Given the description of an element on the screen output the (x, y) to click on. 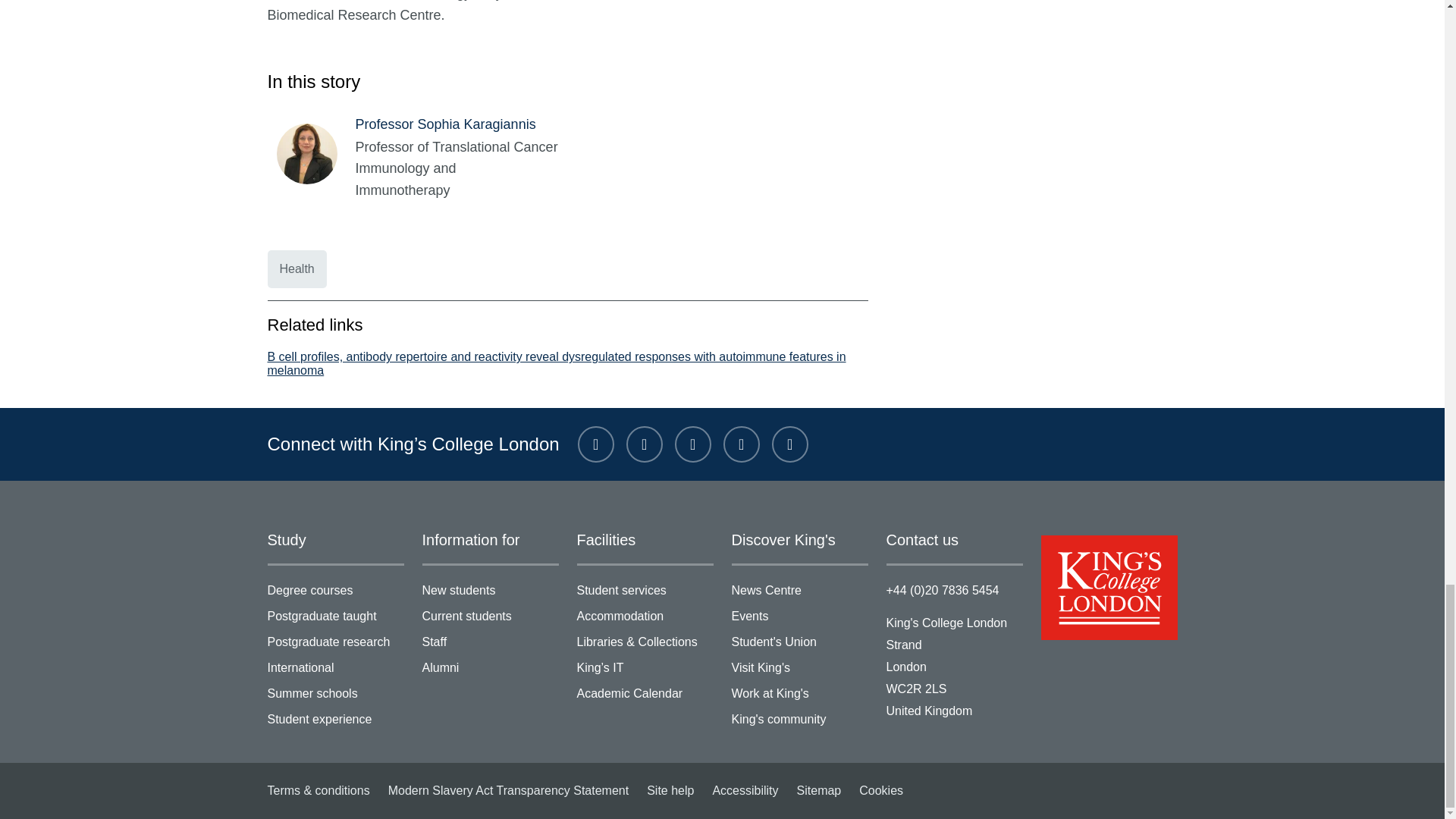
Professor Sophia Karagiannis  (315, 155)
